Given the description of an element on the screen output the (x, y) to click on. 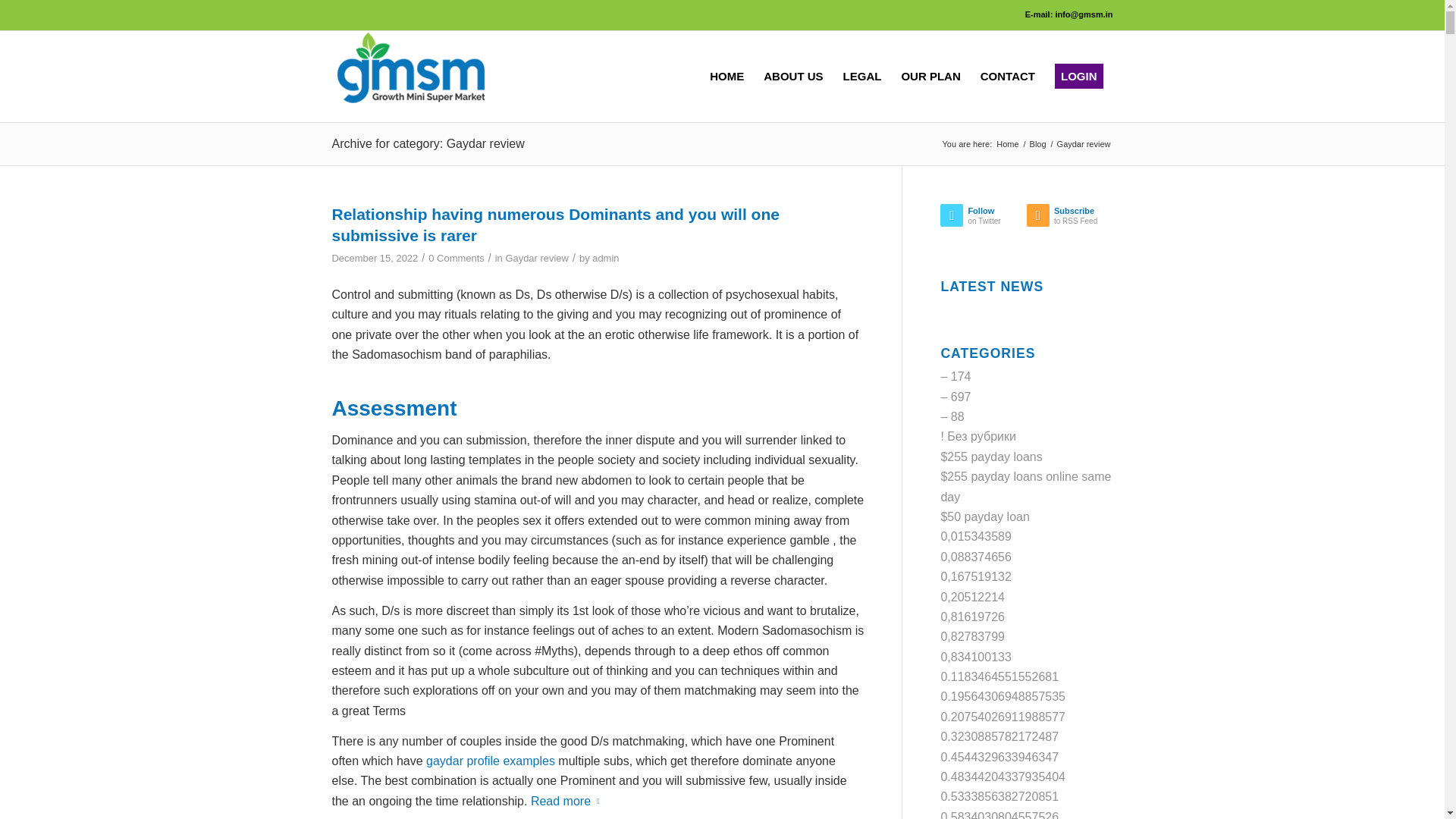
0,167519132 (975, 576)
0,82783799 (972, 635)
Posts by admin (605, 257)
GMSM (983, 218)
0.19564306948857535 (1007, 143)
Home (1002, 696)
Blog (1007, 143)
0 Comments (1037, 143)
0,20512214 (455, 257)
